Given the description of an element on the screen output the (x, y) to click on. 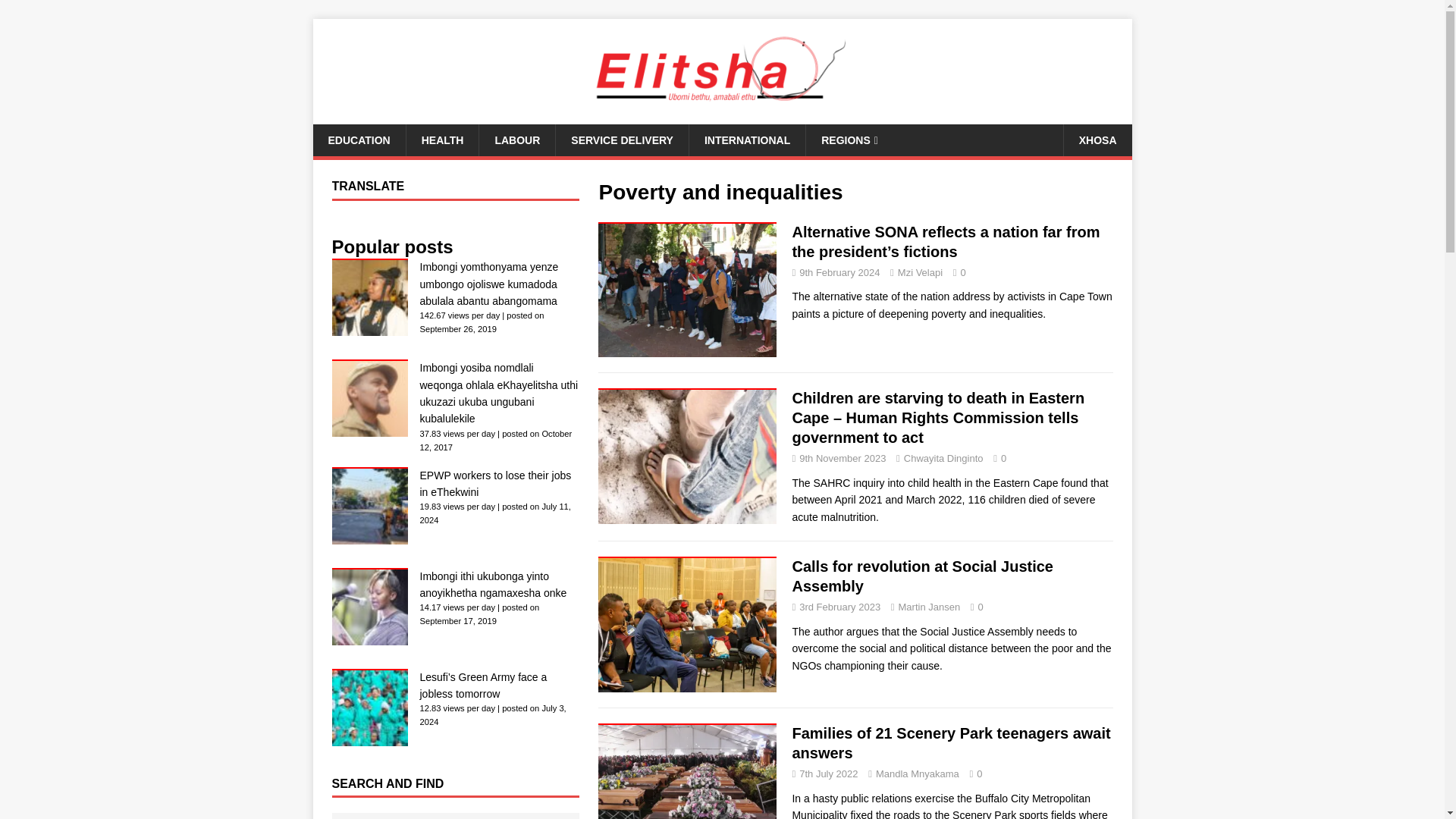
Mzi Velapi (920, 272)
LABOUR (516, 140)
Families of 21 Scenery Park teenagers await answers (950, 742)
REGIONS (849, 140)
INTERNATIONAL (746, 140)
EDUCATION (358, 140)
SERVICE DELIVERY (621, 140)
Calls for revolution at Social Justice Assembly (922, 575)
HEALTH (442, 140)
Chwayita Dinginto (944, 458)
XHOSA (1097, 140)
Mandla Mnyakama (917, 773)
Martin Jansen (929, 606)
